Given the description of an element on the screen output the (x, y) to click on. 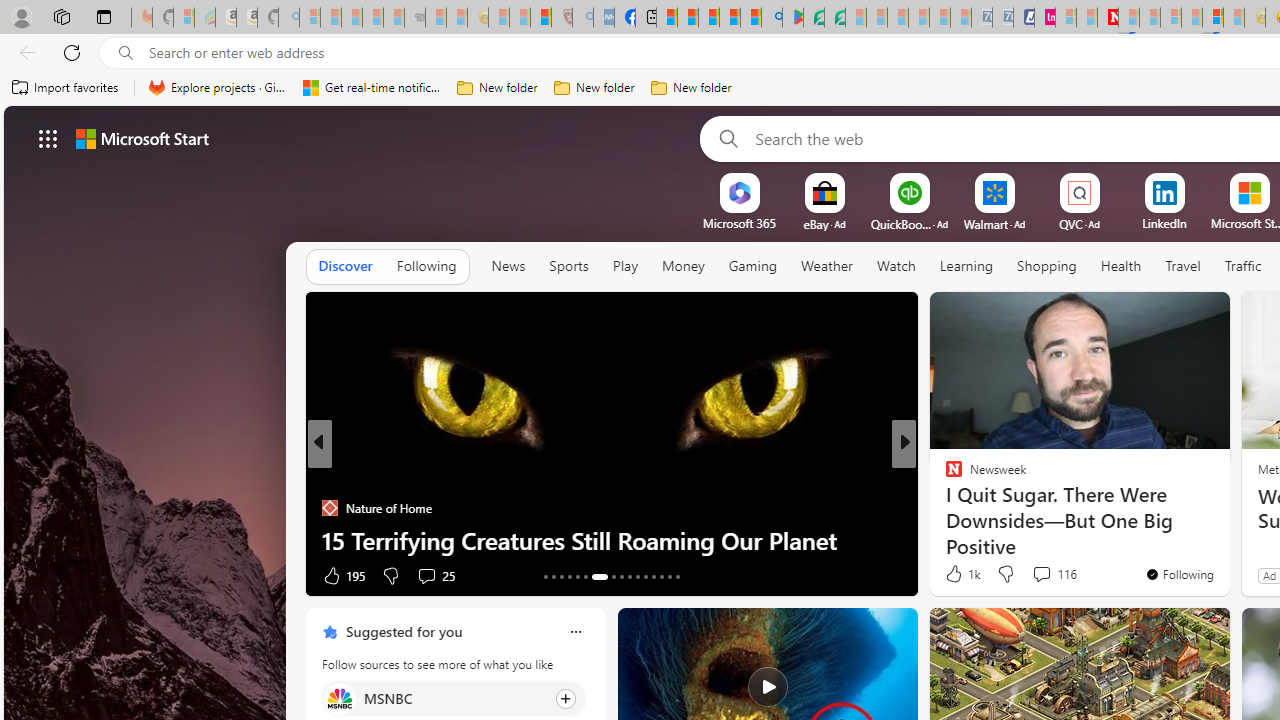
195 Like (342, 574)
LinkedIn (1163, 223)
Suggested for you (404, 631)
View comments 84 Comment (1042, 575)
Money (682, 265)
14 Common Myths Debunked By Scientific Facts - Sleeping (1149, 17)
Microsoft account | Privacy - Sleeping (1066, 17)
View comments 18 Comment (1042, 575)
Click to follow source MSNBC (453, 698)
72 Like (956, 574)
You're following Newsweek (1179, 573)
